Given the description of an element on the screen output the (x, y) to click on. 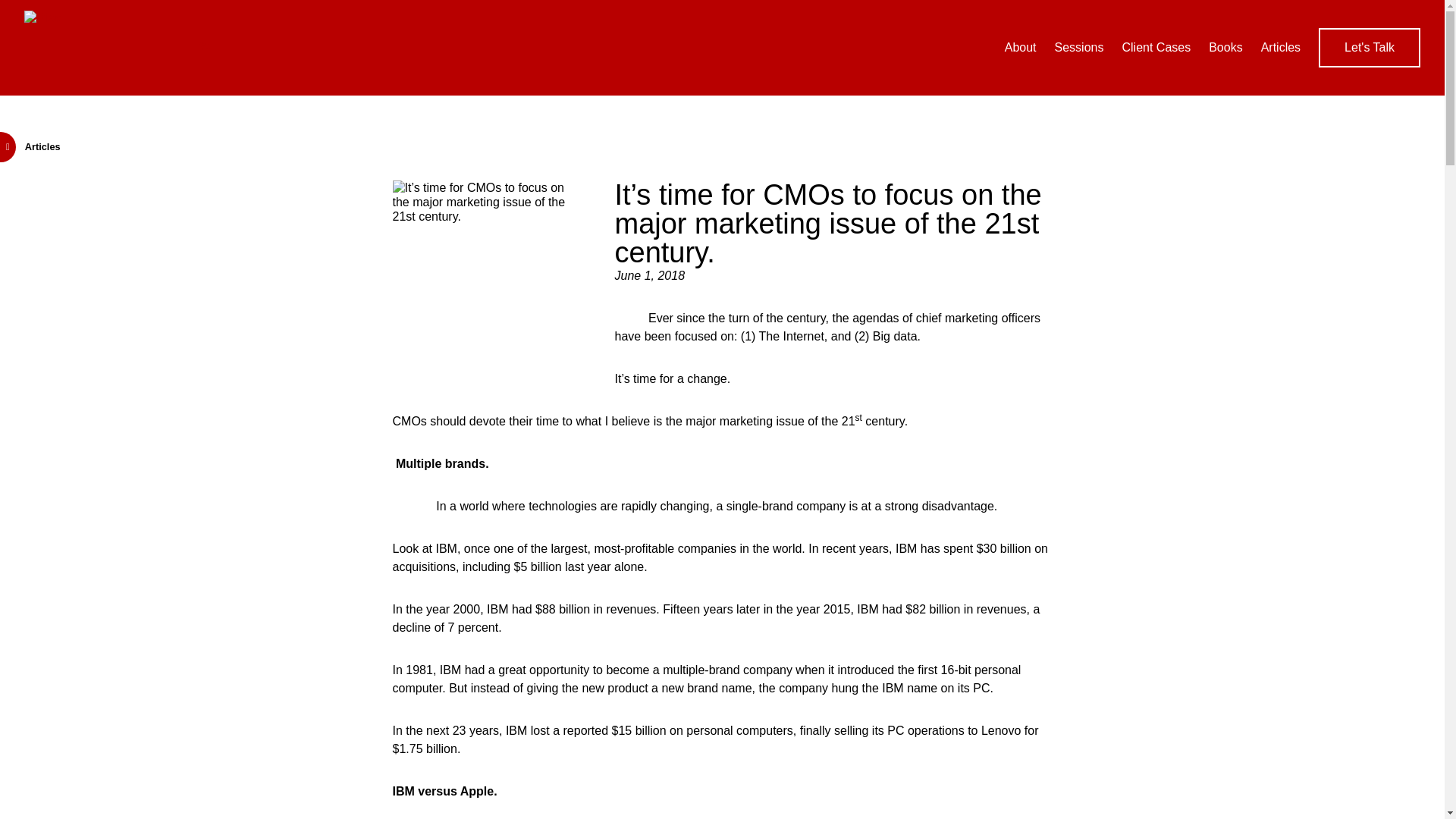
Articles (1280, 47)
Let's Talk (1370, 47)
Books (1224, 47)
Sessions (1078, 47)
Client Cases (1156, 47)
Articles (30, 146)
About (1020, 47)
